Given the description of an element on the screen output the (x, y) to click on. 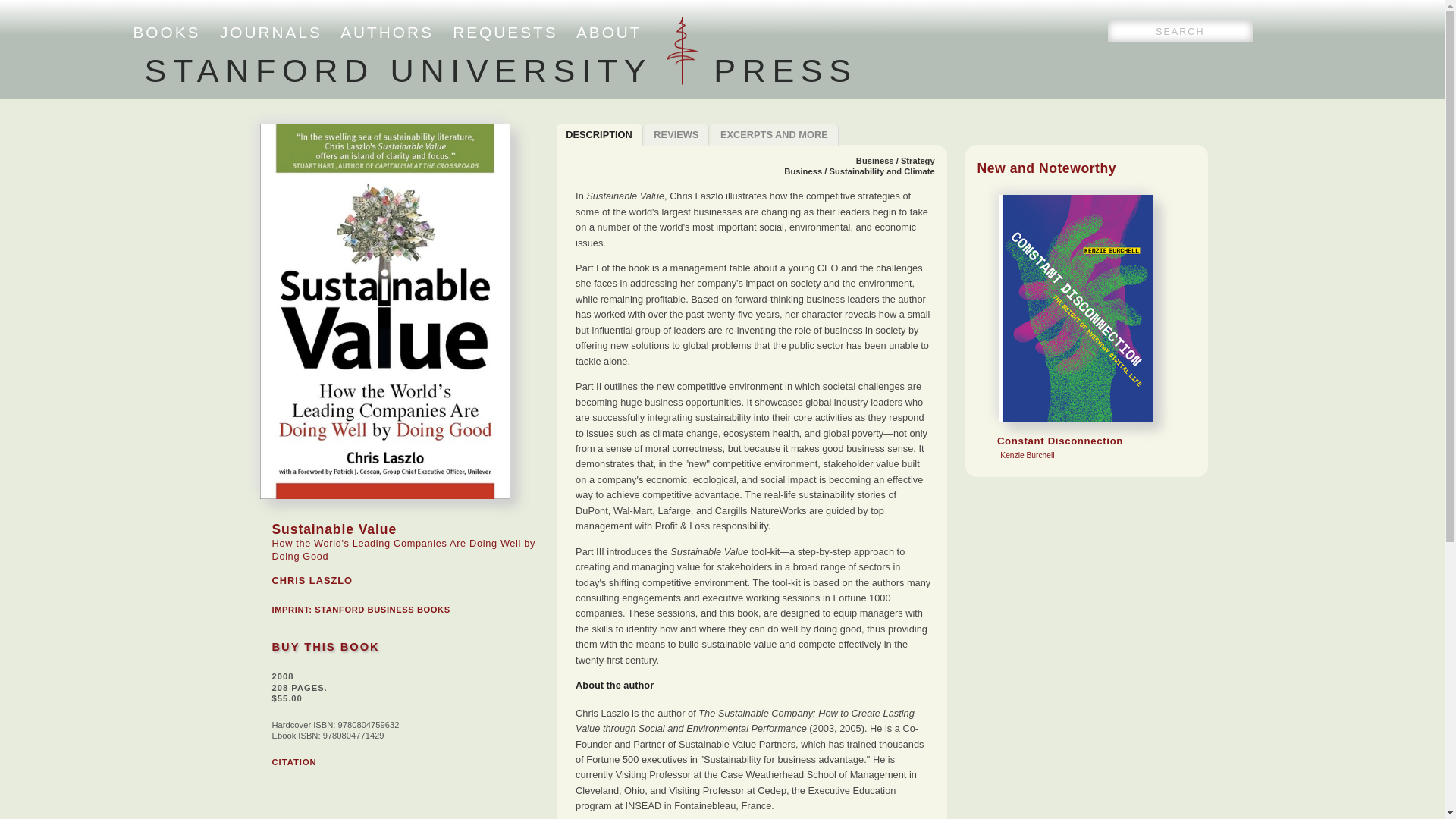
STANFORD BUSINESS BOOKS (381, 609)
BUY THIS BOOK (324, 646)
REVIEWS (677, 134)
DESCRIPTION (774, 134)
REQUESTS (599, 134)
CITATION (504, 31)
BOOKS (292, 761)
JOURNALS (166, 31)
ABOUT (270, 31)
